Given the description of an element on the screen output the (x, y) to click on. 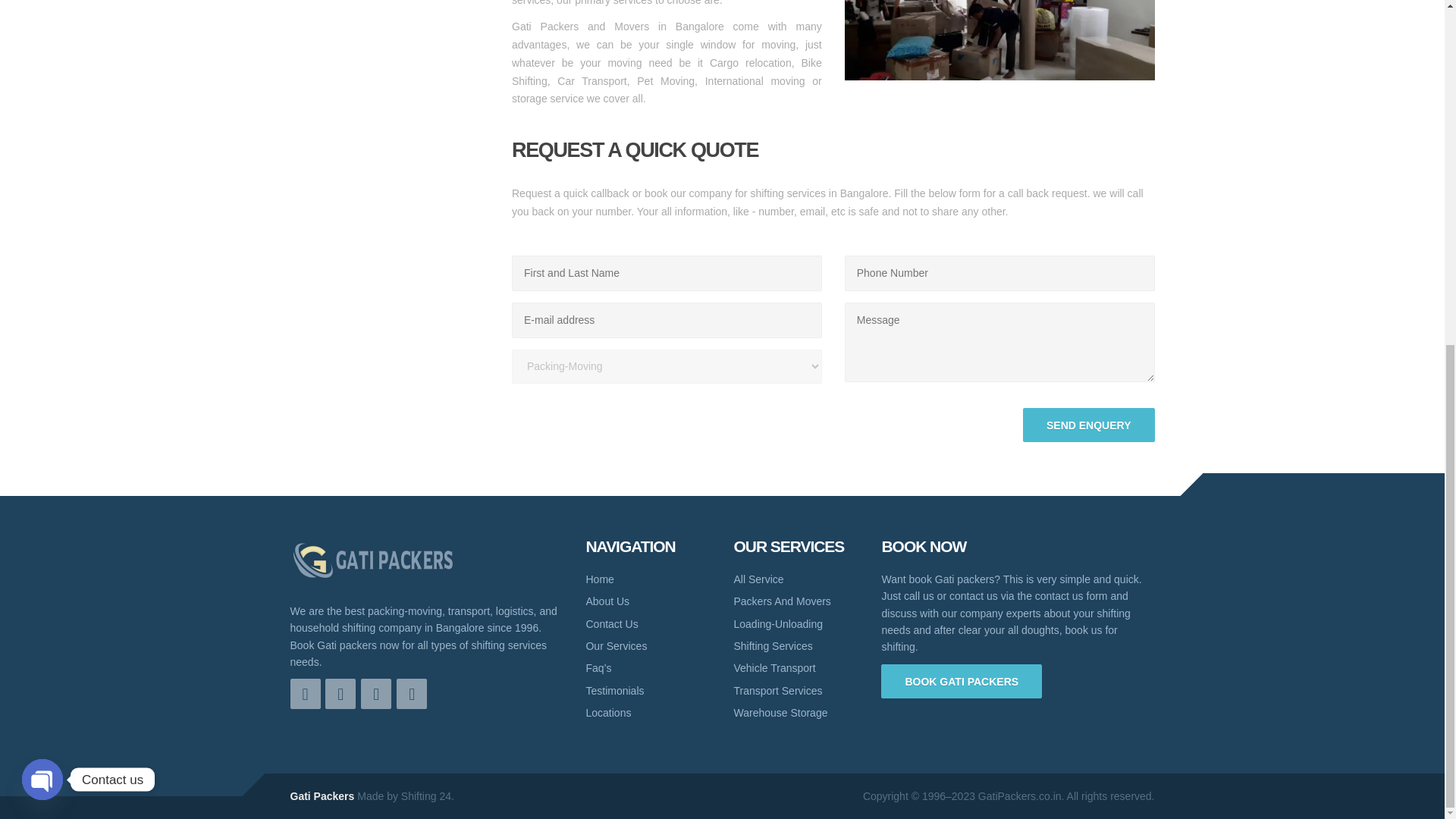
About Us (647, 600)
SEND ENQUERY (1088, 424)
Locations (647, 712)
Packers And Movers 2 (999, 40)
Our Services (647, 646)
Testimonials (647, 690)
SEND ENQUERY (1088, 424)
Contact Us (647, 623)
Home (647, 579)
All Service (796, 579)
Packers And Movers (796, 600)
